Given the description of an element on the screen output the (x, y) to click on. 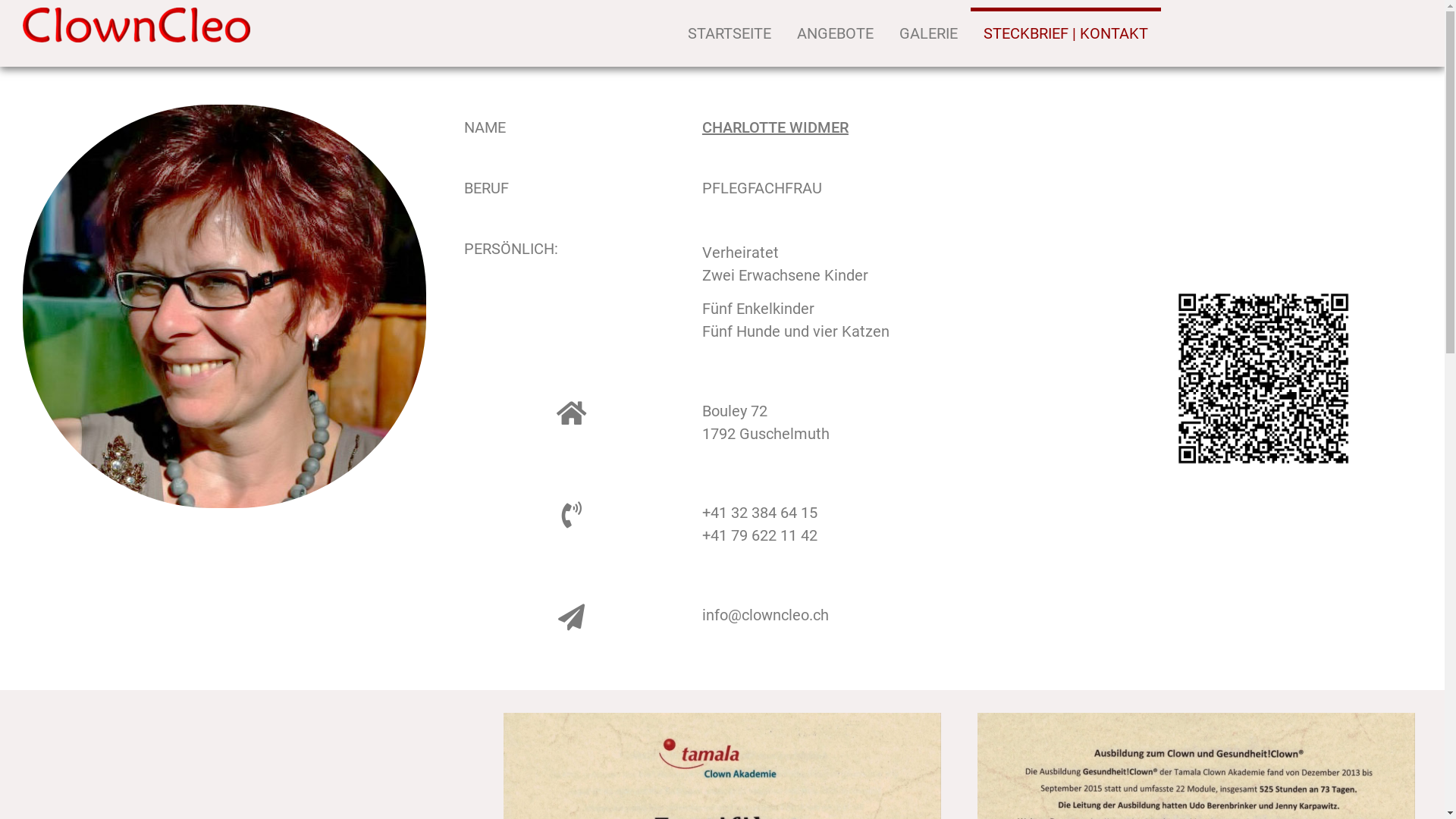
STECKBRIEF | KONTAKT Element type: text (1065, 33)
info@clowncleo.ch Element type: text (765, 614)
GALERIE Element type: text (928, 33)
+41 79 622 11 42 Element type: text (759, 535)
+41 32 384 64 15 Element type: text (759, 512)
STARTSEITE Element type: text (729, 33)
ANGEBOTE Element type: text (835, 33)
